Given the description of an element on the screen output the (x, y) to click on. 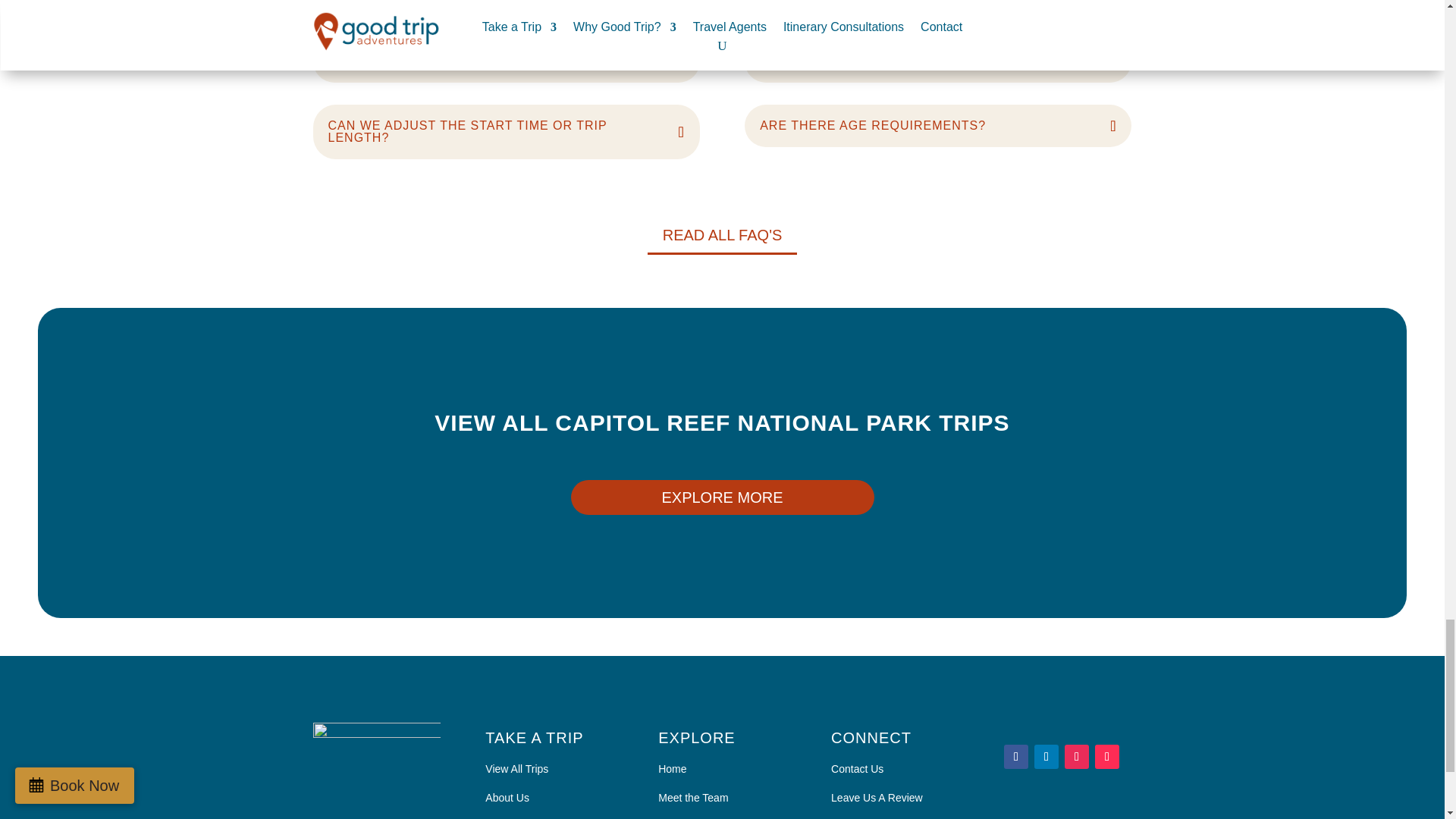
Follow on LinkedIn (1045, 756)
Follow on Facebook (1015, 756)
Good Trip Logo (376, 768)
